Given the description of an element on the screen output the (x, y) to click on. 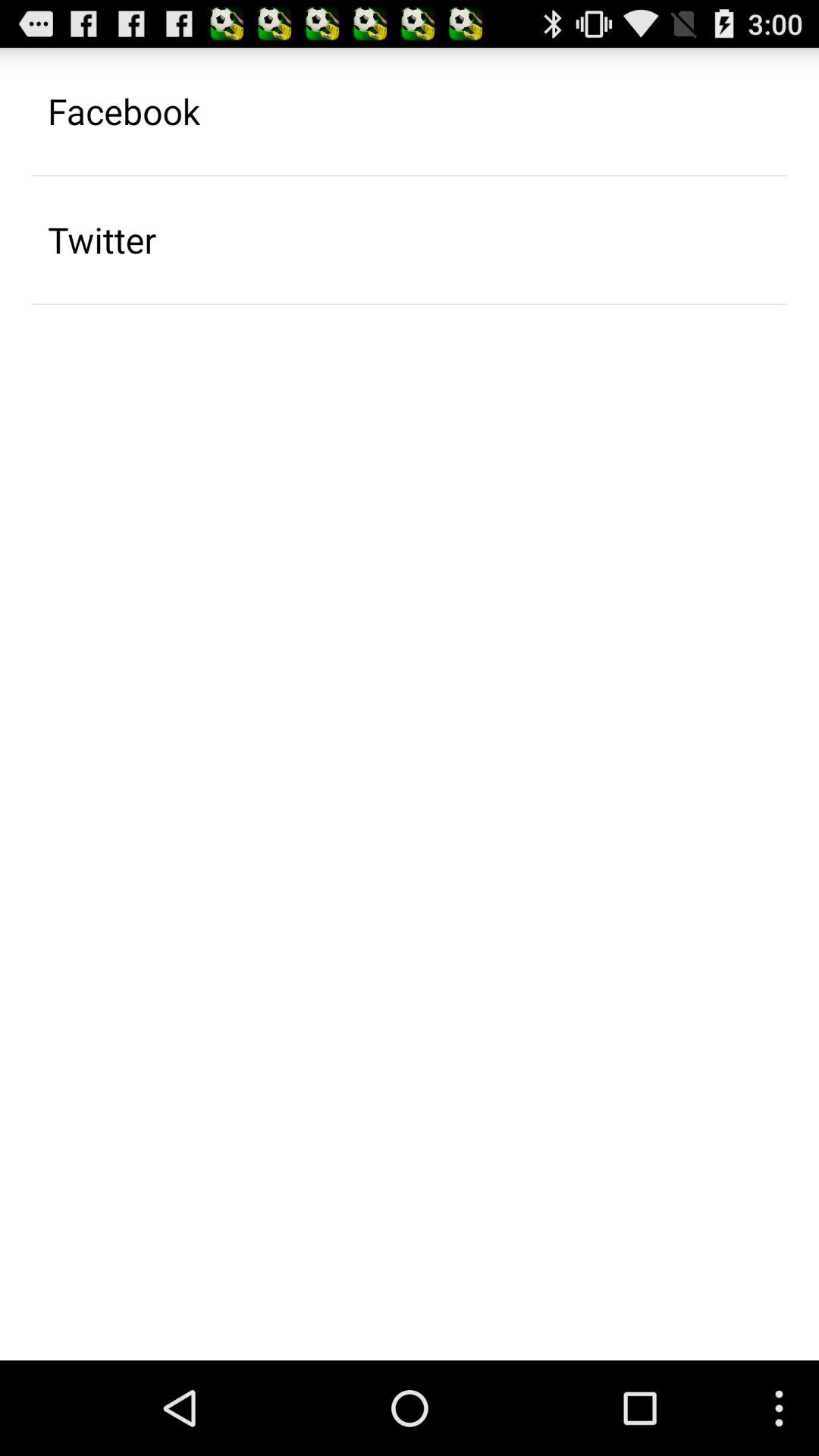
flip until twitter app (101, 239)
